Given the description of an element on the screen output the (x, y) to click on. 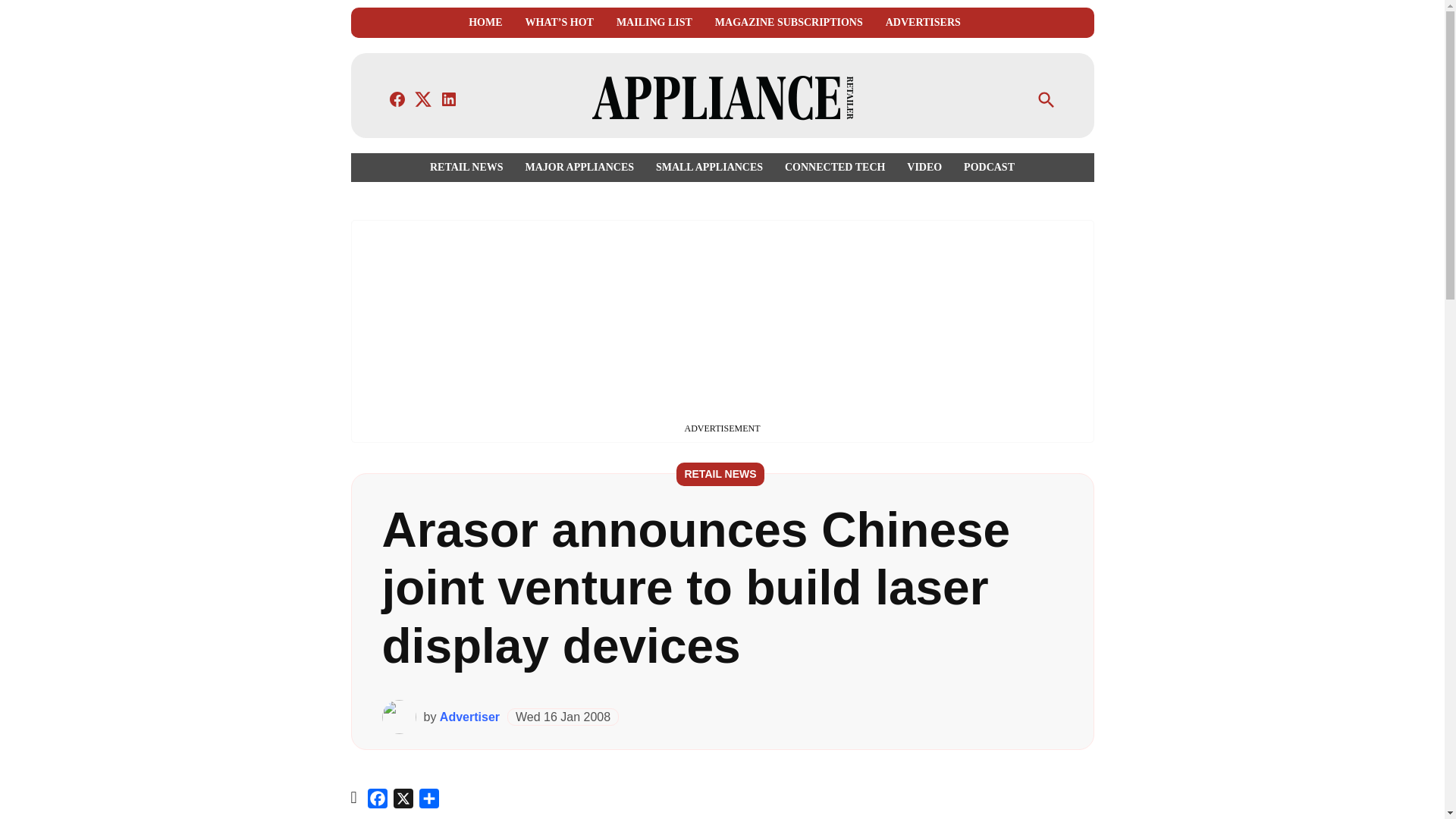
CONNECTED TECH (834, 167)
HOME (484, 22)
PODCAST (985, 167)
Appliance Retailer (983, 109)
LINKEDIN (448, 99)
TWITTER (422, 99)
VIDEO (924, 167)
MAGAZINE SUBSCRIPTIONS (788, 22)
